Given the description of an element on the screen output the (x, y) to click on. 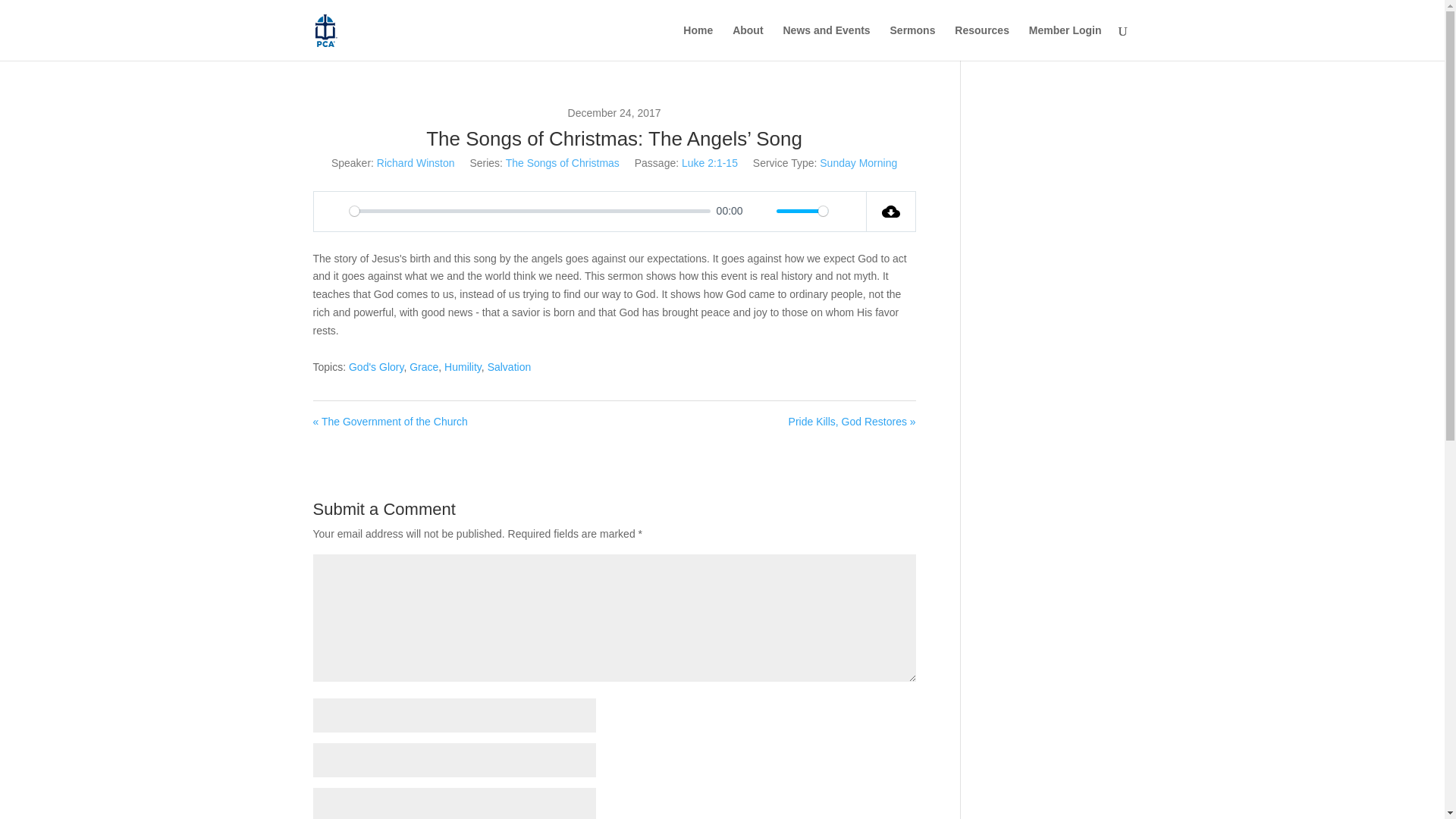
Luke 2:1-15 (709, 162)
Settings (846, 211)
1 (802, 210)
Humility (462, 367)
Grace (423, 367)
Sunday Morning (857, 162)
Resources (982, 42)
Salvation (509, 367)
Sermons (912, 42)
The Songs of Christmas (562, 162)
Member Login (1065, 42)
0 (529, 210)
News and Events (826, 42)
Richard Winston (415, 162)
Play (333, 211)
